Given the description of an element on the screen output the (x, y) to click on. 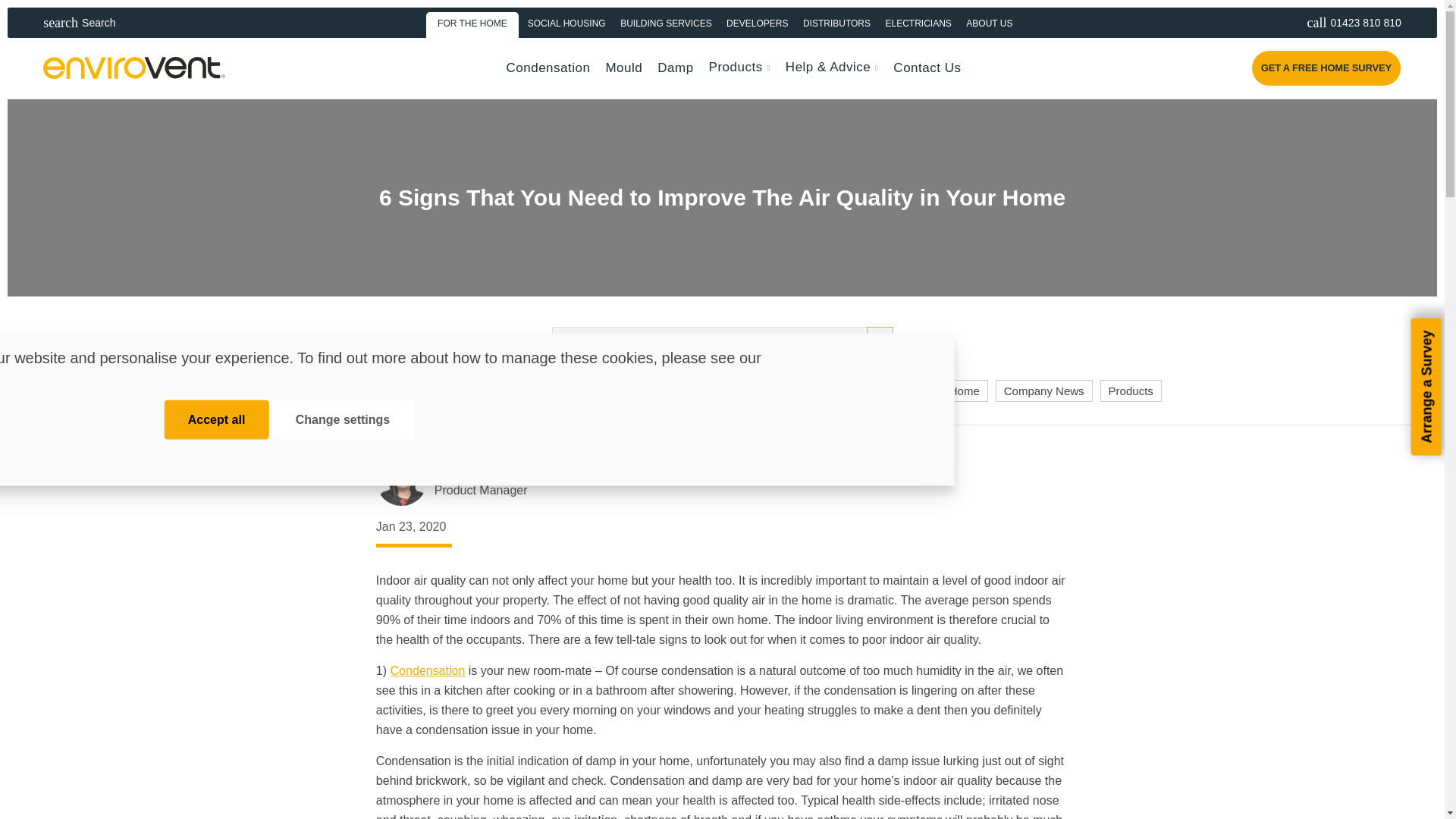
SOCIAL HOUSING (566, 22)
Mould (622, 67)
ABOUT US (988, 22)
DISTRIBUTORS (836, 22)
FOR THE HOME (472, 22)
Change settings (342, 419)
Accept all (1343, 22)
BUILDING SERVICES (216, 419)
Products (665, 22)
